Given the description of an element on the screen output the (x, y) to click on. 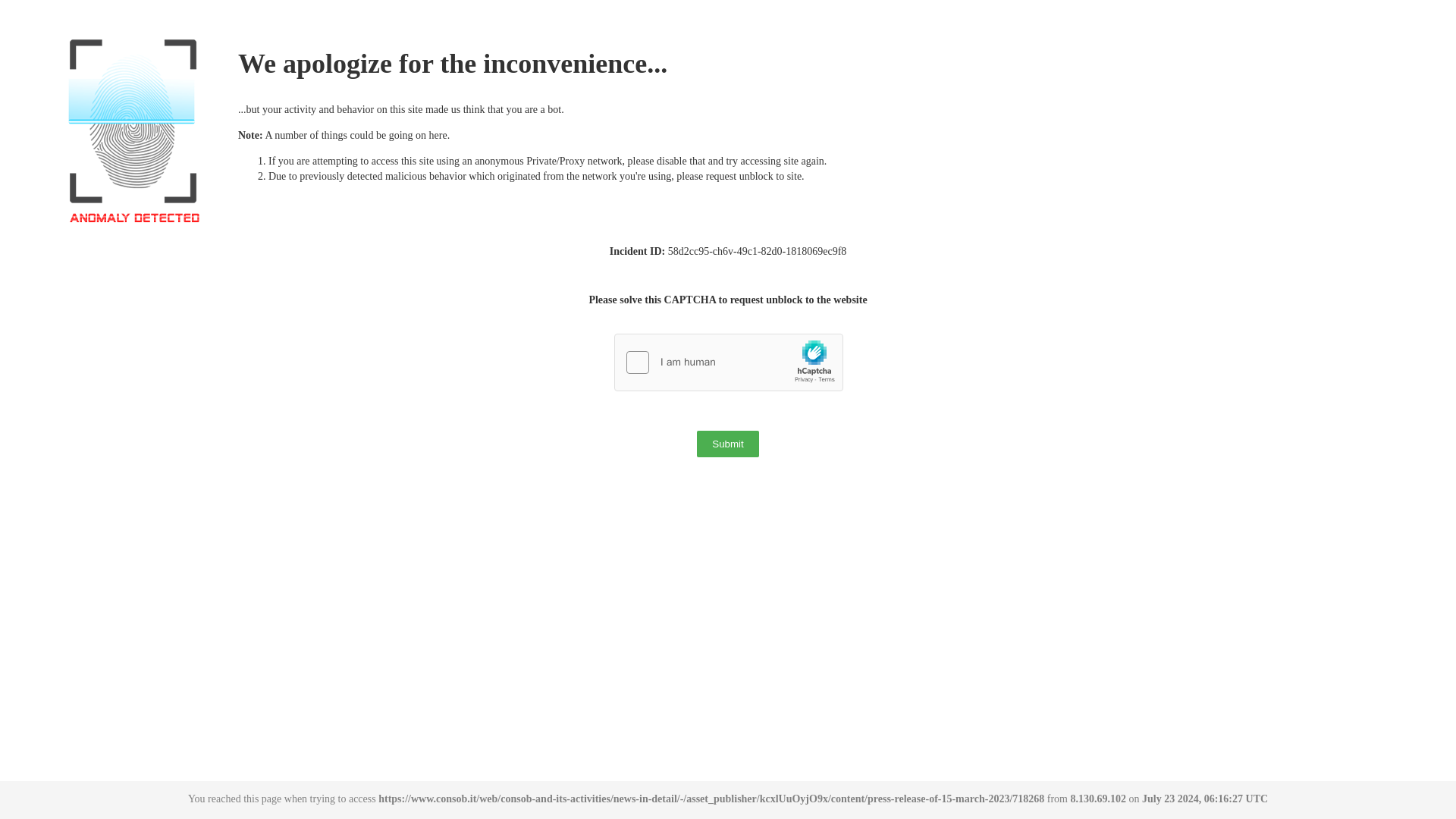
Submit (727, 443)
Submit (727, 443)
Widget containing checkbox for hCaptcha security challenge (729, 363)
